Given the description of an element on the screen output the (x, y) to click on. 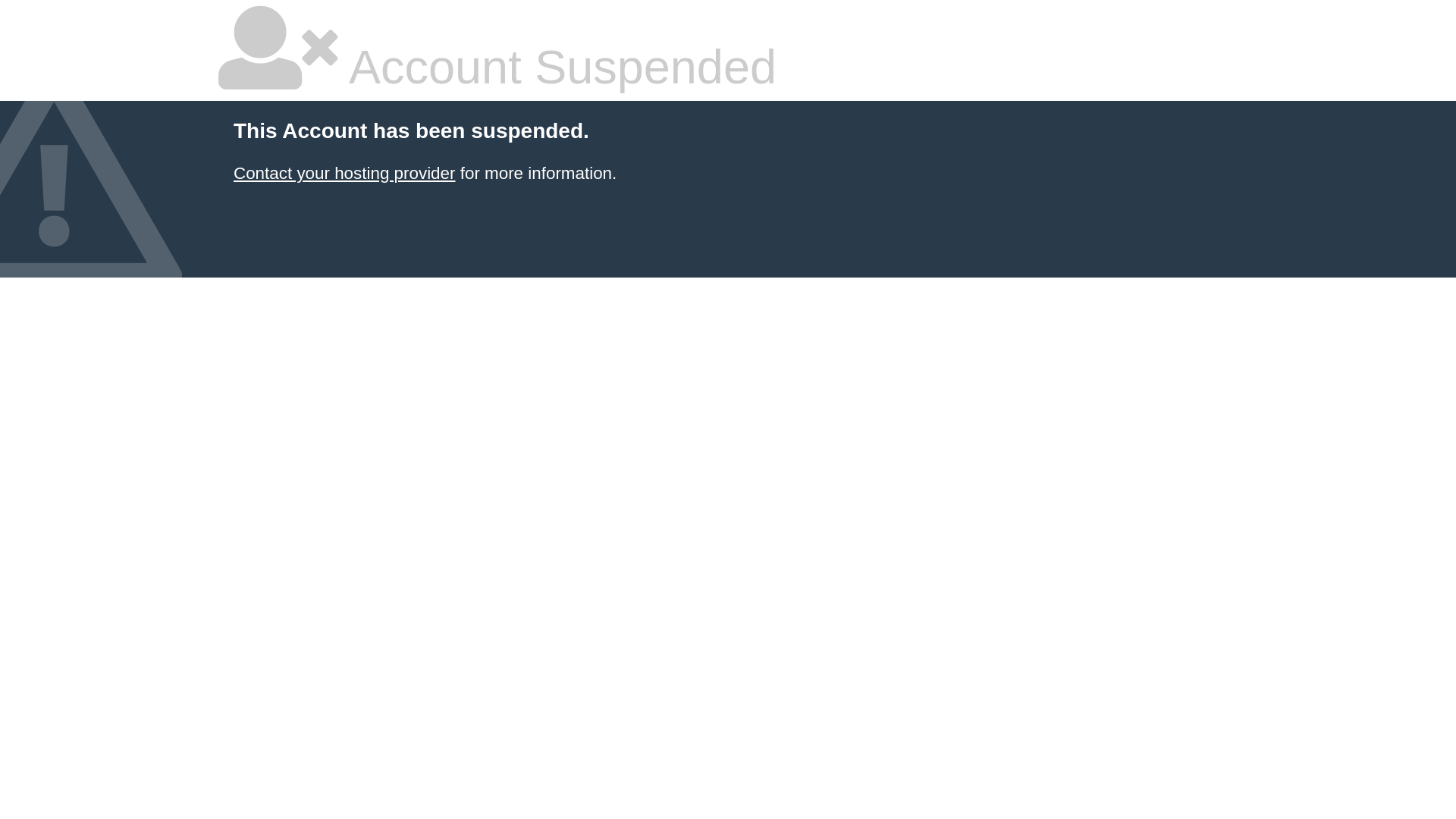
Contact your hosting provider Element type: text (344, 172)
